Given the description of an element on the screen output the (x, y) to click on. 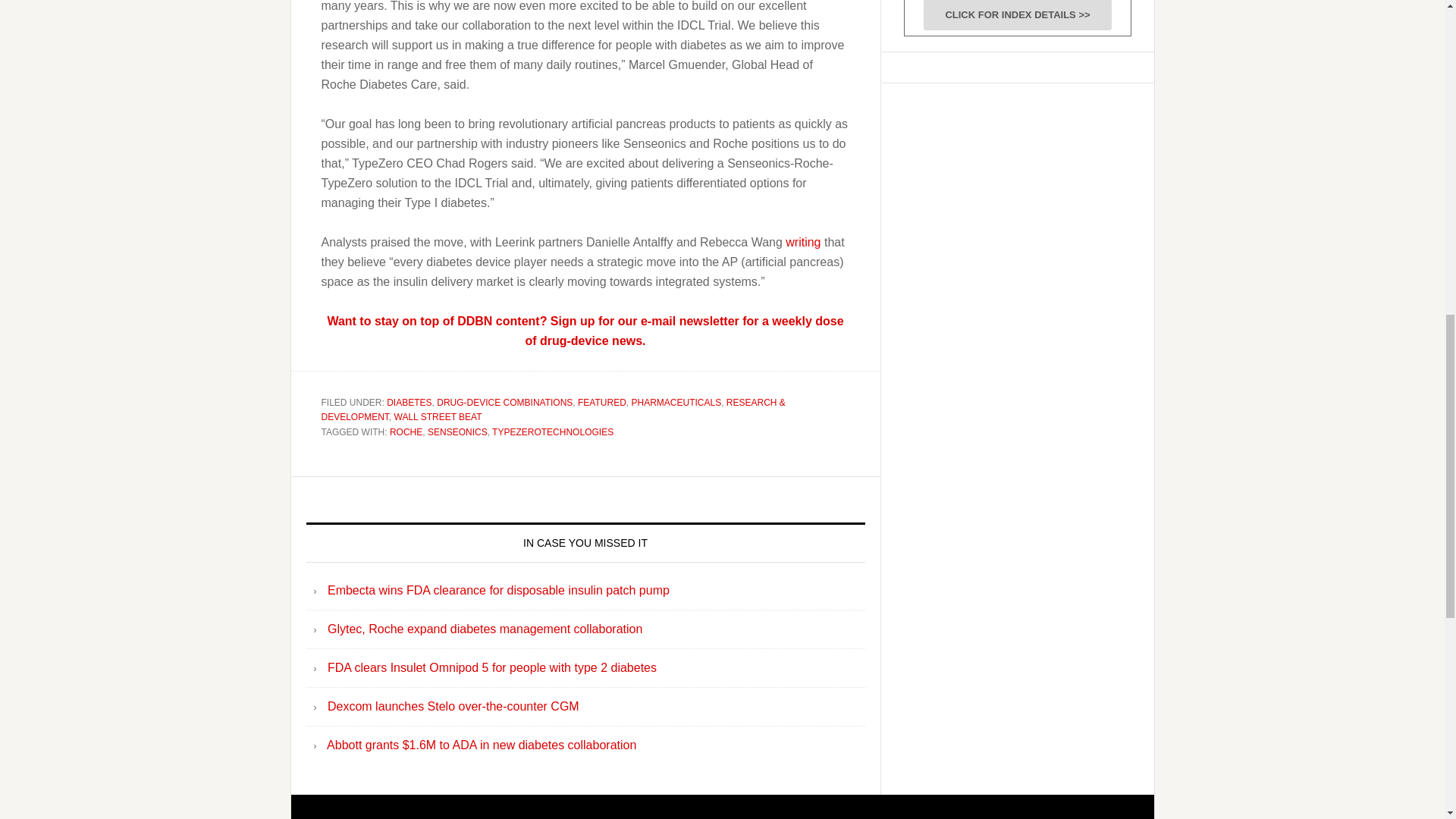
Dexcom launches Stelo over-the-counter CGM (453, 706)
PHARMACEUTICALS (675, 402)
writing (803, 241)
SENSEONICS (457, 430)
TYPEZEROTECHNOLOGIES (552, 430)
FDA clears Insulet Omnipod 5 for people with type 2 diabetes (491, 667)
DIABETES (408, 402)
DRUG-DEVICE COMBINATIONS (504, 402)
Embecta wins FDA clearance for disposable insulin patch pump (498, 590)
